Given the description of an element on the screen output the (x, y) to click on. 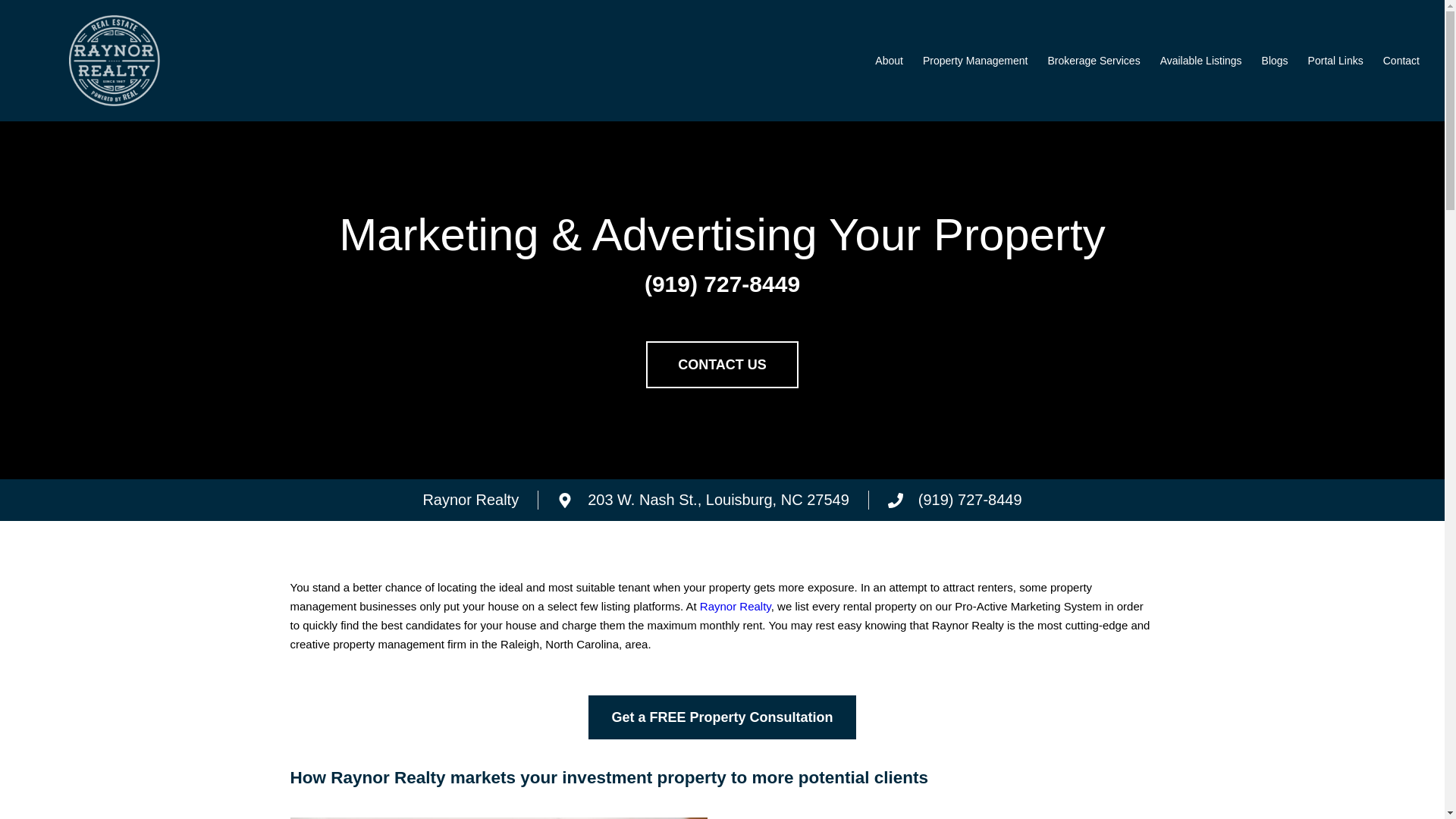
Portal Links (1335, 60)
About (888, 60)
Contact (1401, 60)
Available Listings (1201, 60)
Property Management (975, 60)
Blogs (1275, 60)
Brokerage Services (1093, 60)
